Given the description of an element on the screen output the (x, y) to click on. 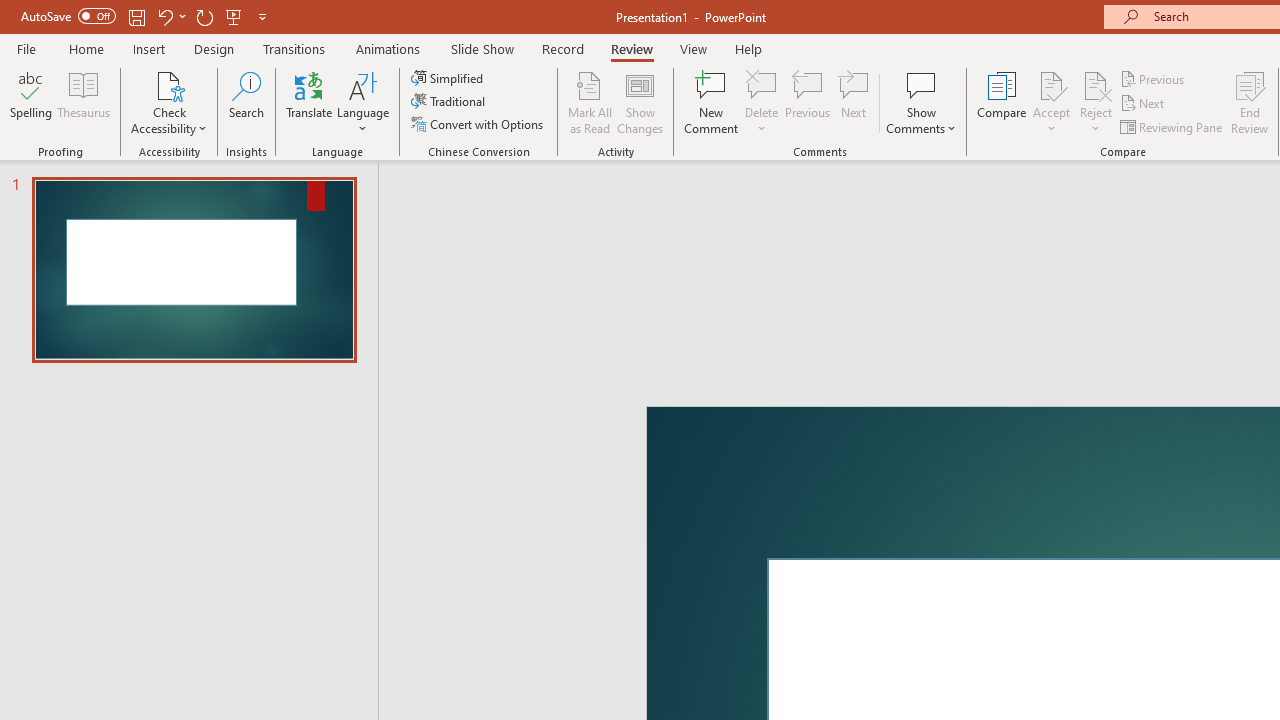
Next (1144, 103)
Language (363, 102)
End Review (1249, 102)
Show Changes (639, 102)
Accept Change (1051, 84)
Accept (1051, 102)
Convert with Options... (479, 124)
